Given the description of an element on the screen output the (x, y) to click on. 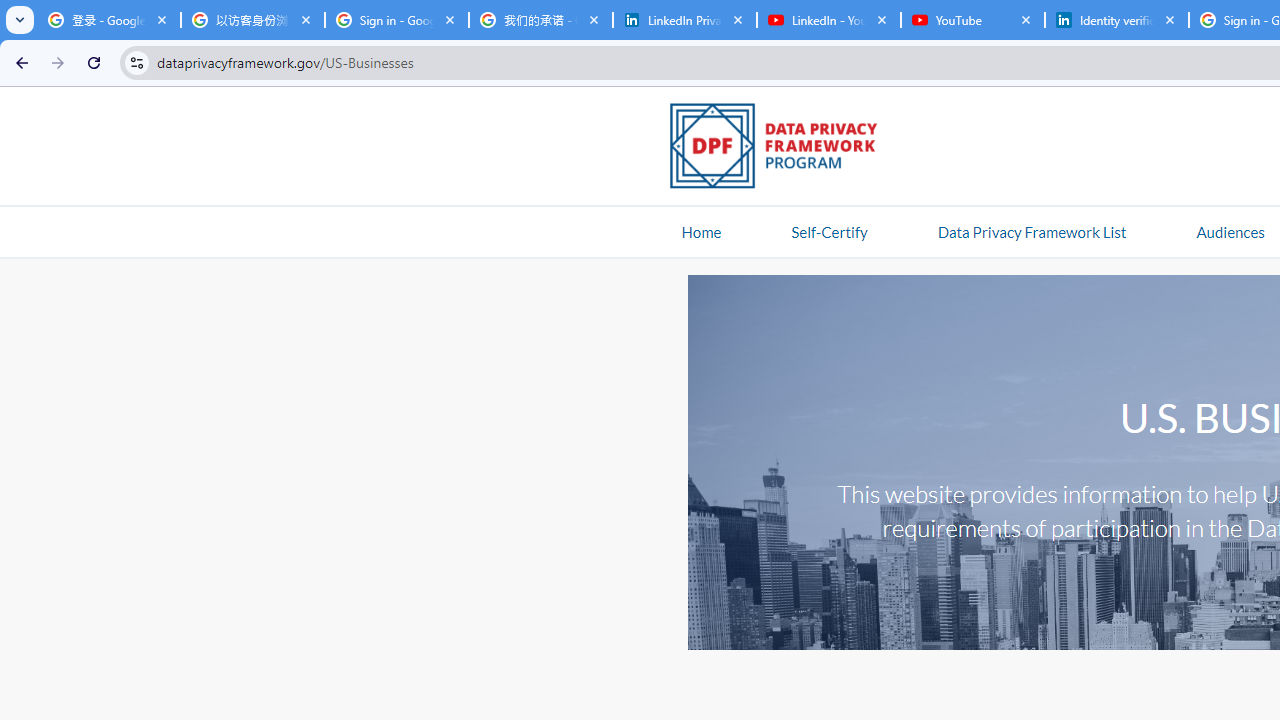
AutomationID: navitem (1230, 231)
Data Privacy Framework List (1031, 231)
Audiences (1230, 231)
